Given the description of an element on the screen output the (x, y) to click on. 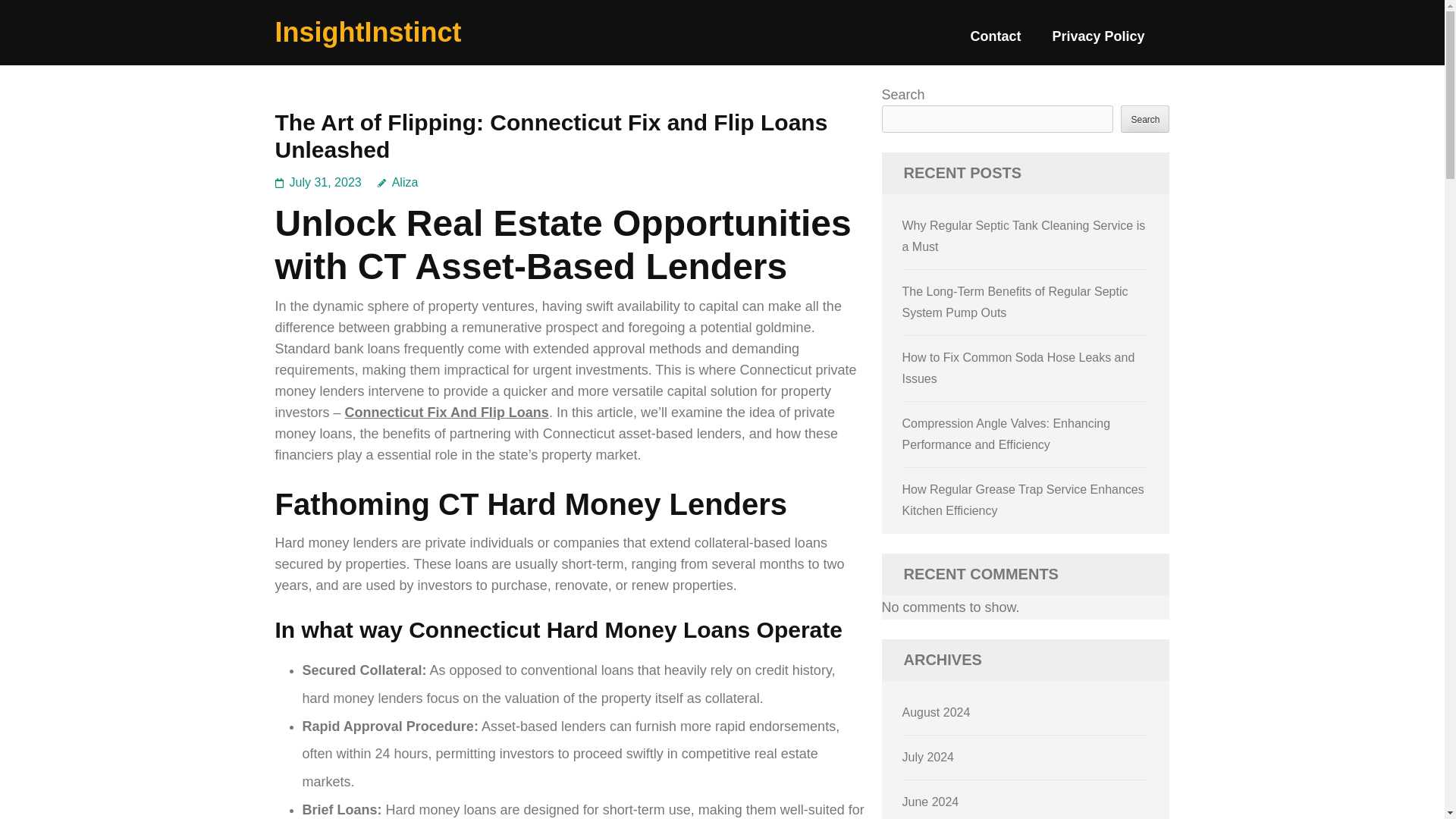
July 2024 (928, 757)
The Long-Term Benefits of Regular Septic System Pump Outs (1015, 302)
Why Regular Septic Tank Cleaning Service is a Must (1023, 236)
Search (1145, 118)
June 2024 (930, 801)
Connecticut Fix And Flip Loans (446, 412)
How Regular Grease Trap Service Enhances Kitchen Efficiency (1023, 499)
Privacy Policy (1097, 42)
Aliza (398, 182)
